Given the description of an element on the screen output the (x, y) to click on. 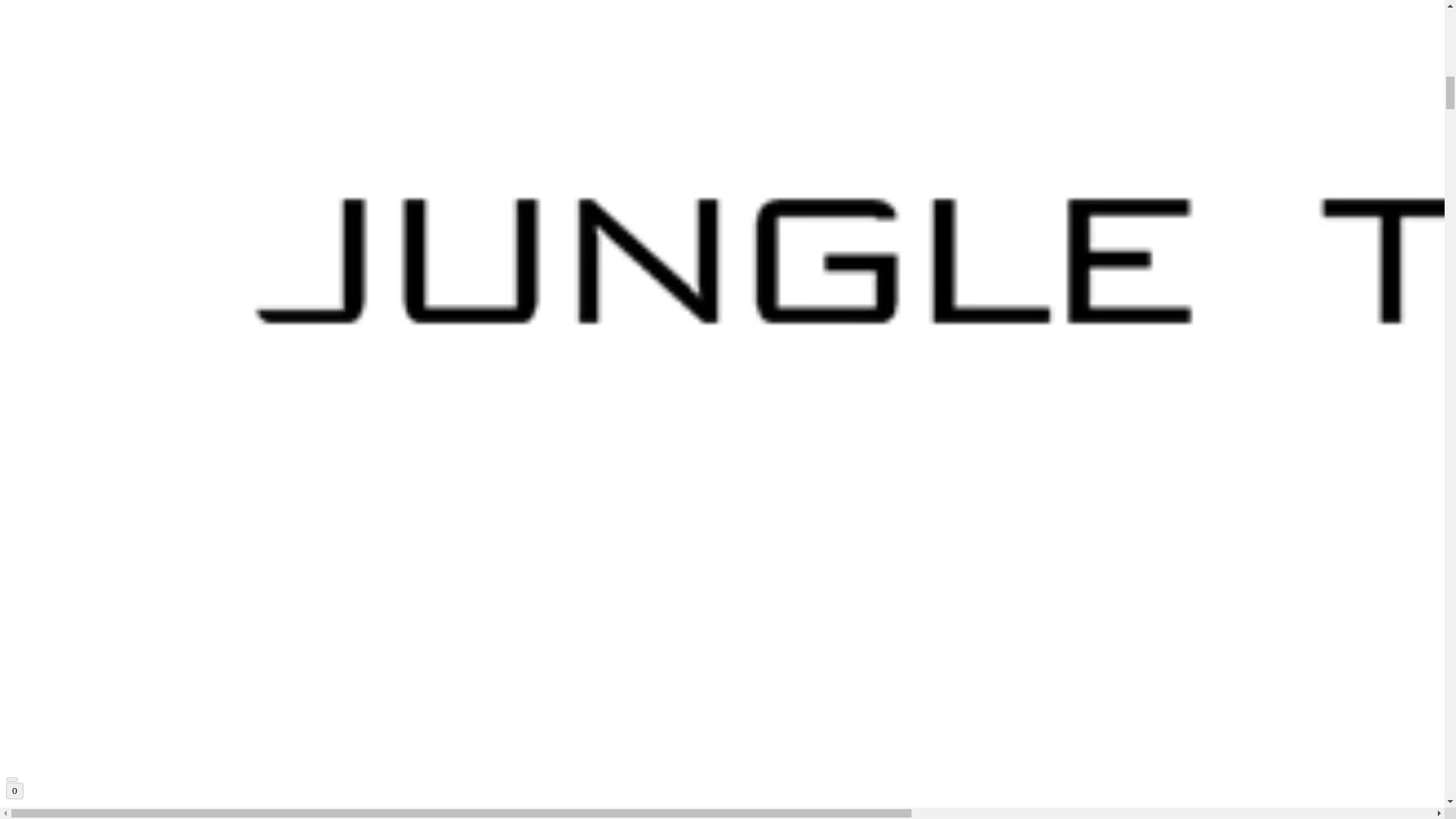
0 (14, 790)
